Given the description of an element on the screen output the (x, y) to click on. 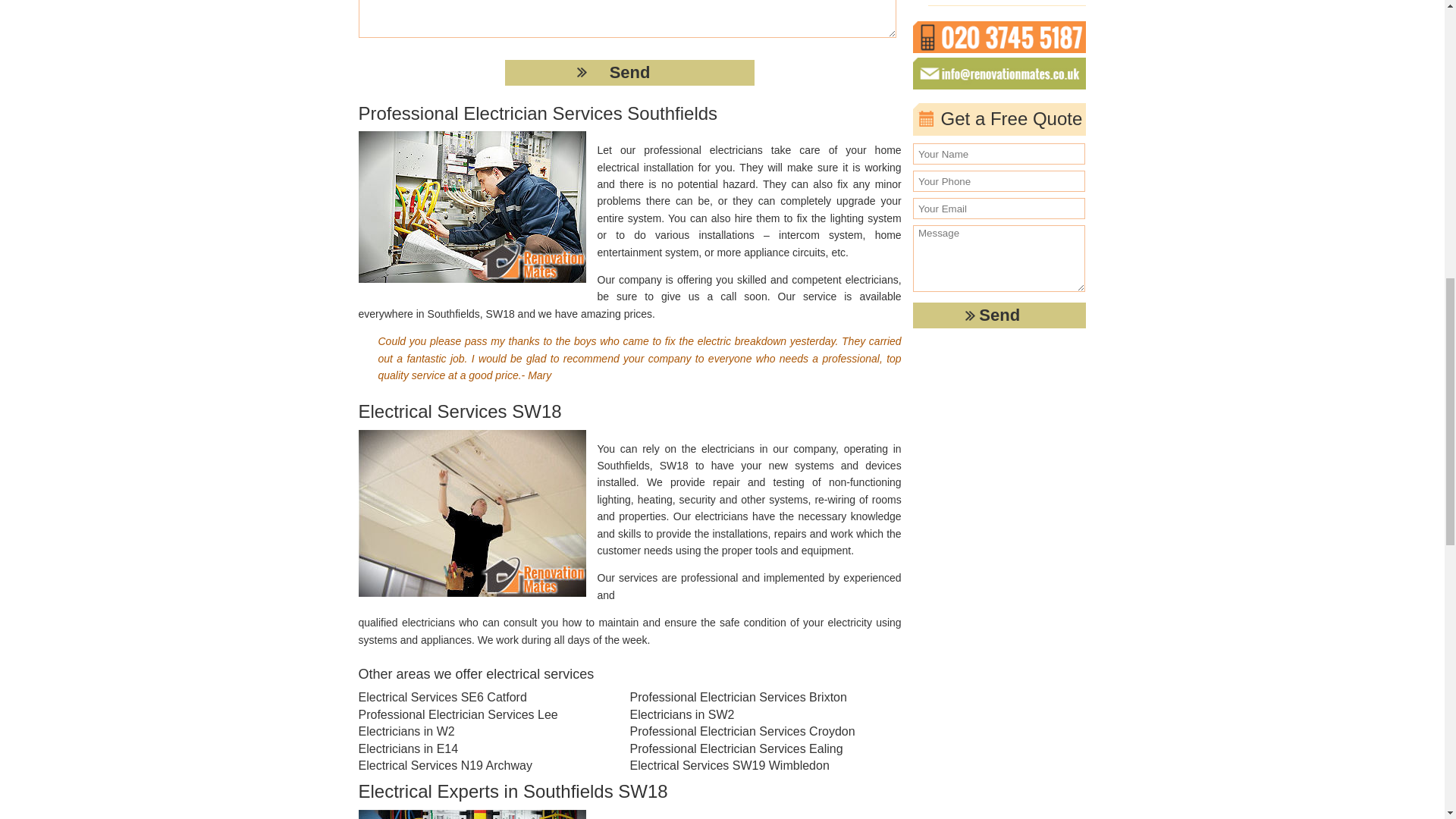
Electrical Services SE6  Catford (480, 697)
Electricians in E14 (480, 749)
Professional Electrician Services Brixton (752, 697)
Electrical Services N19  Archway (480, 765)
Professional Electrician Services Croydon (752, 731)
Professional Electrician Services Brixton (752, 697)
Electricians in SW2 (752, 714)
Professional Electrician Services Ealing (752, 749)
Professional Electrician Services Lee (480, 714)
Professional Electrician Services Croydon (752, 731)
